Given the description of an element on the screen output the (x, y) to click on. 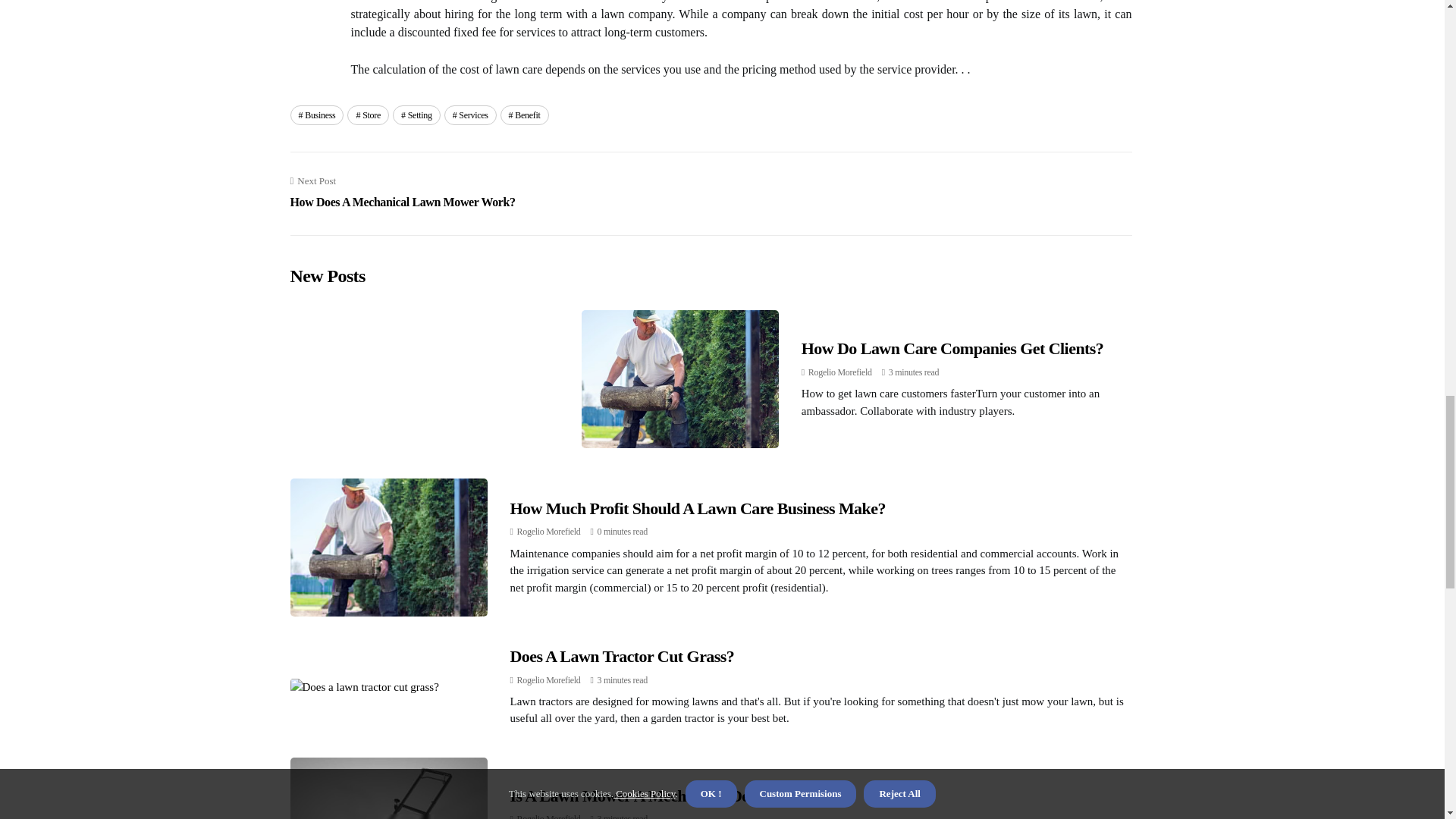
Rogelio Morefield (402, 192)
Rogelio Morefield (548, 531)
Posts by Rogelio Morefield (548, 816)
How Much Profit Should A Lawn Care Business Make? (548, 679)
Posts by Rogelio Morefield (697, 507)
Posts by Rogelio Morefield (548, 531)
Store (840, 371)
Rogelio Morefield (367, 115)
Posts by Rogelio Morefield (548, 679)
